Given the description of an element on the screen output the (x, y) to click on. 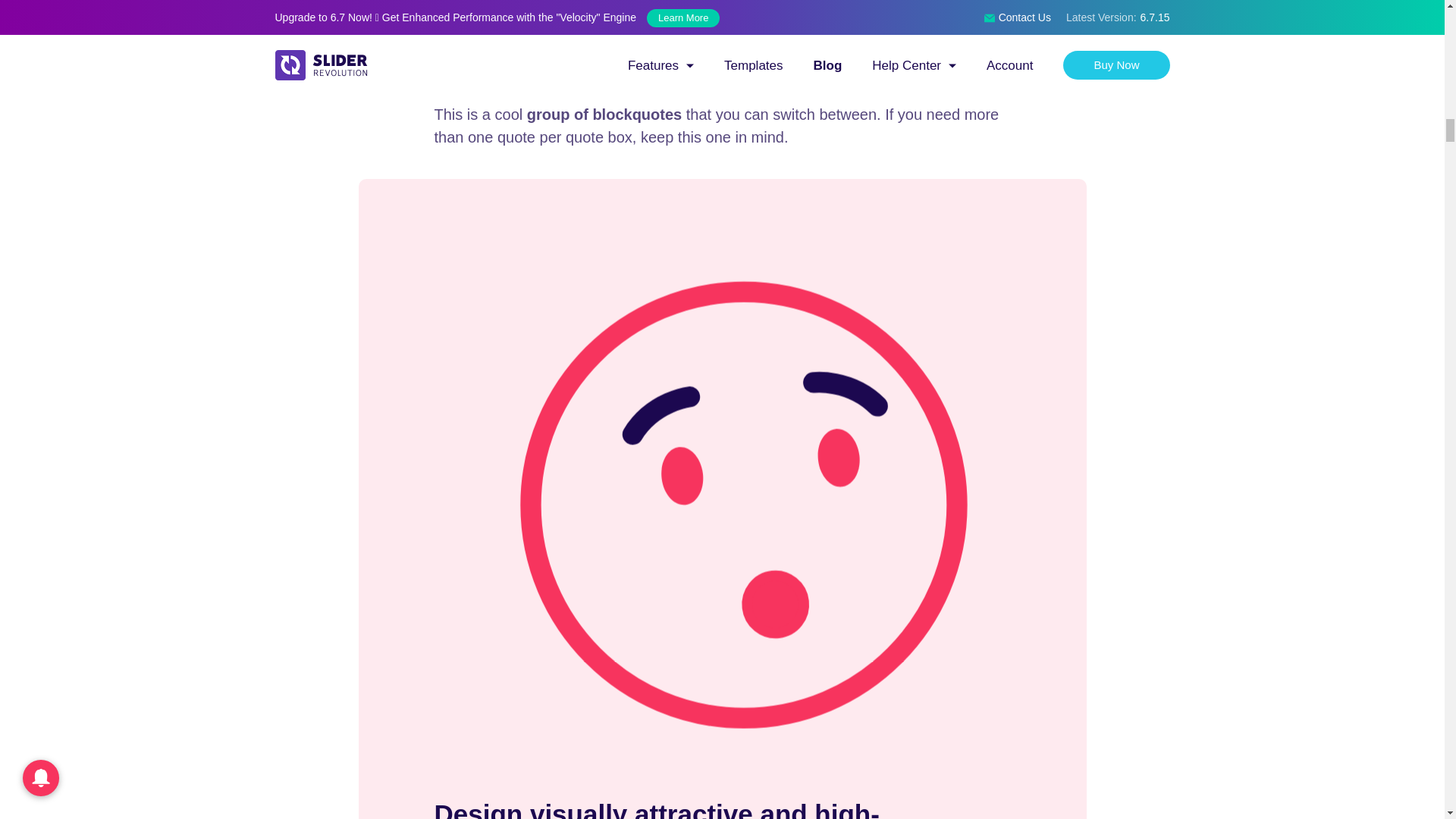
CodePen Embed pogeQK (721, 14)
